Given the description of an element on the screen output the (x, y) to click on. 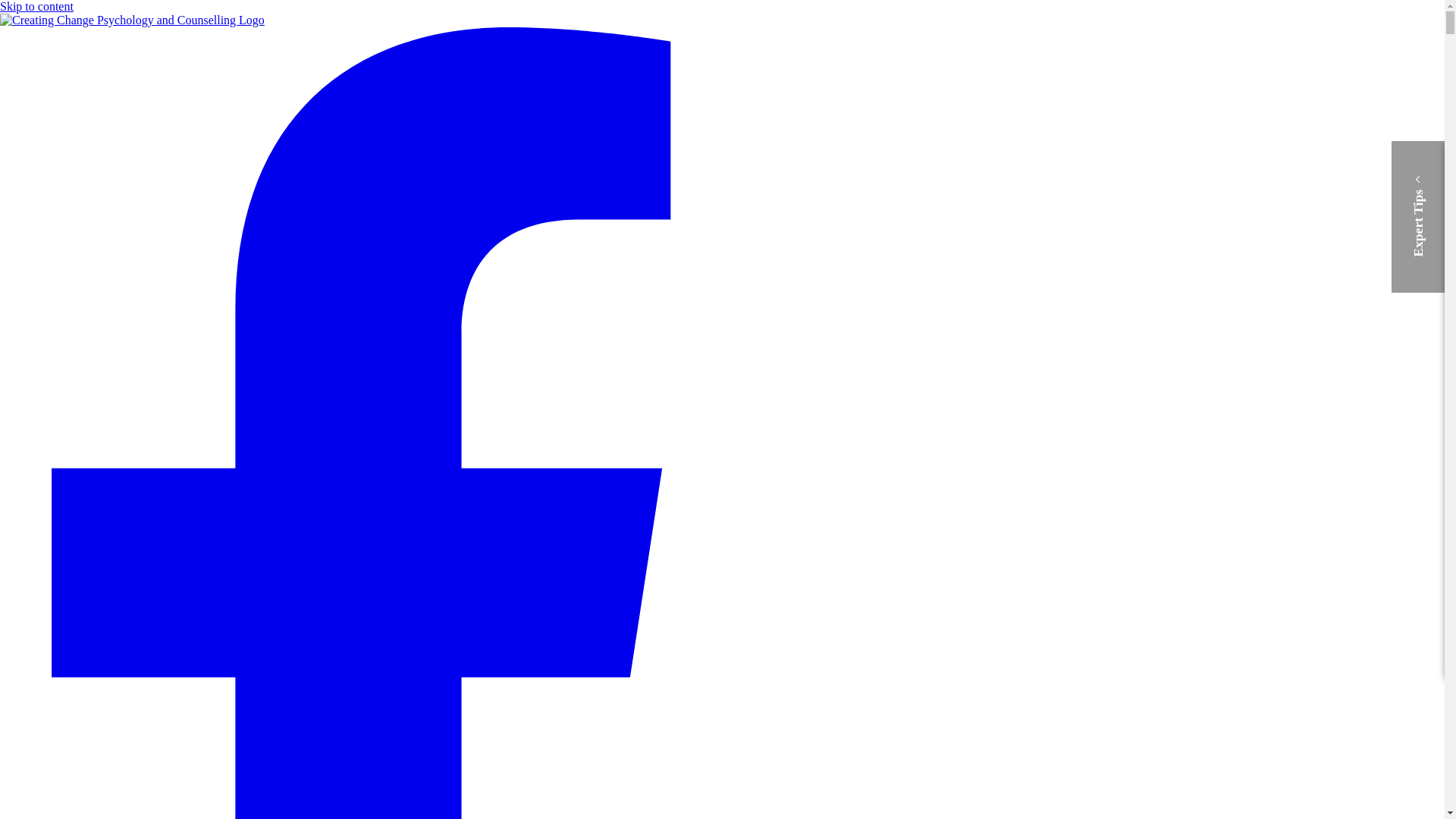
Skip to content Element type: text (36, 6)
